Given the description of an element on the screen output the (x, y) to click on. 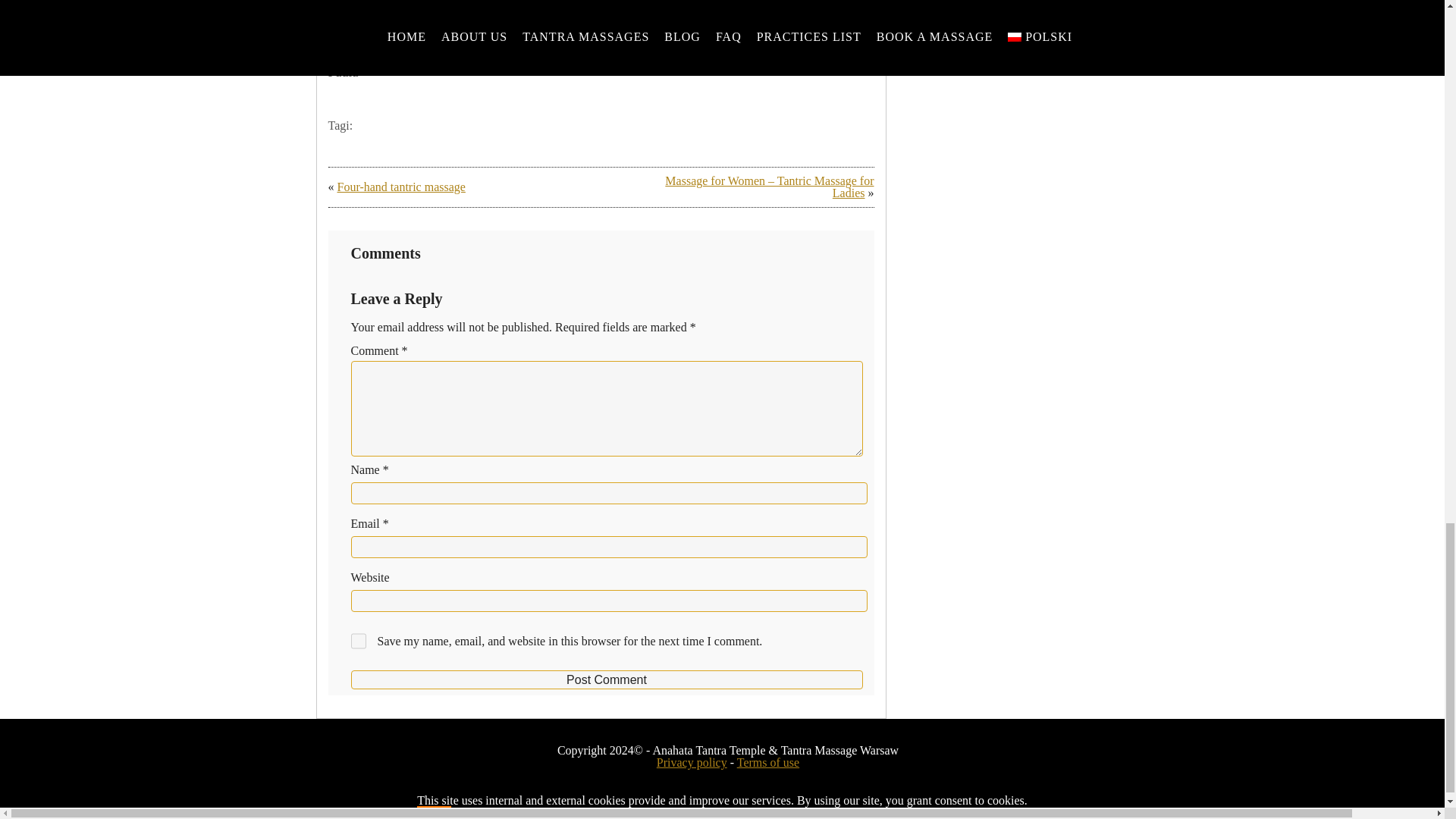
Post Comment (605, 679)
Post Comment (605, 679)
Four-hand tantric massage (400, 186)
